Given the description of an element on the screen output the (x, y) to click on. 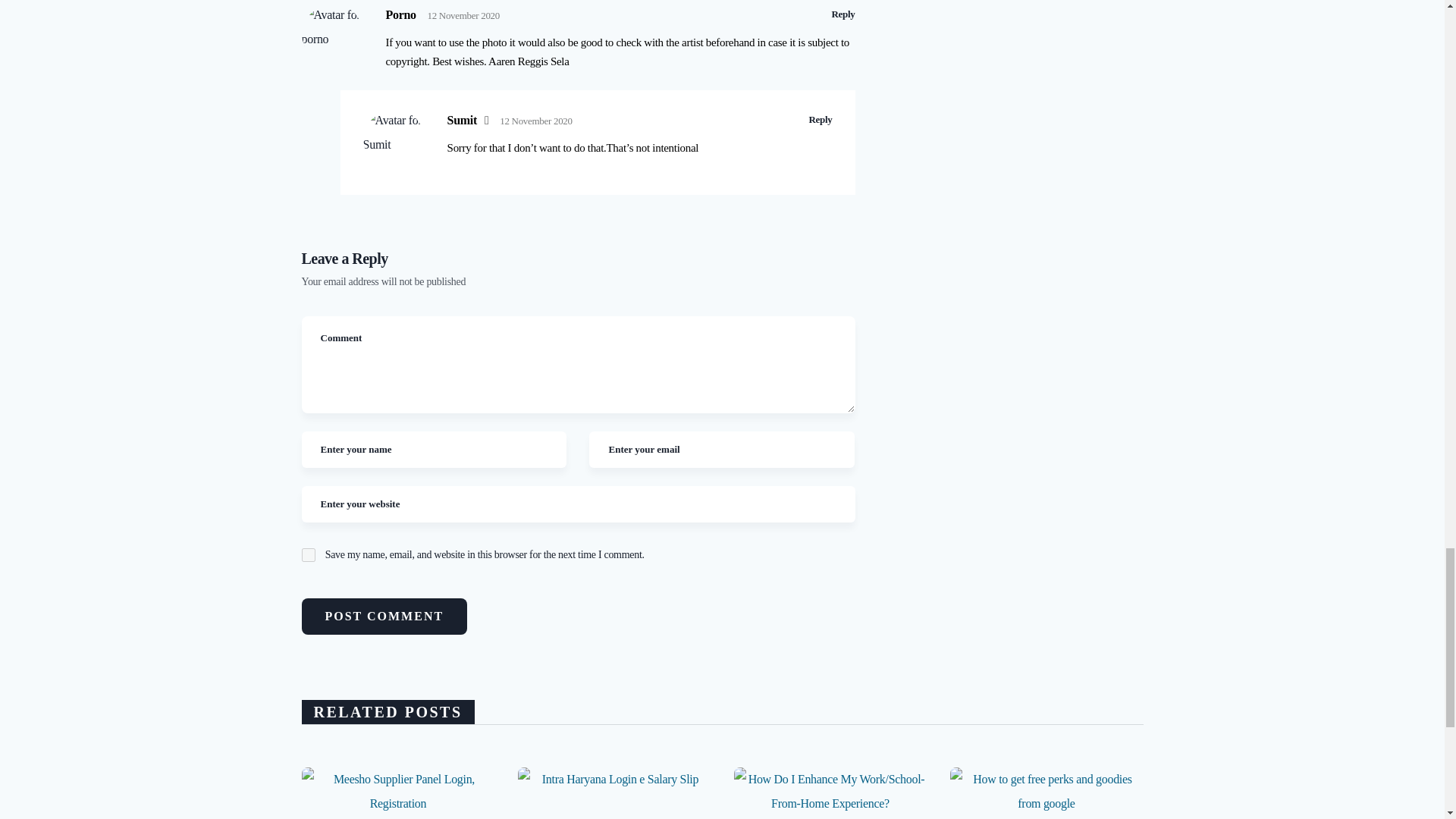
Reply (820, 119)
Post Comment (384, 616)
Meesho Supplier Panel Login, Registration (398, 793)
Reply (843, 13)
Gravatar for Sumit (392, 138)
Gravatar for porno (331, 33)
Post Comment (384, 616)
yes (308, 554)
